Given the description of an element on the screen output the (x, y) to click on. 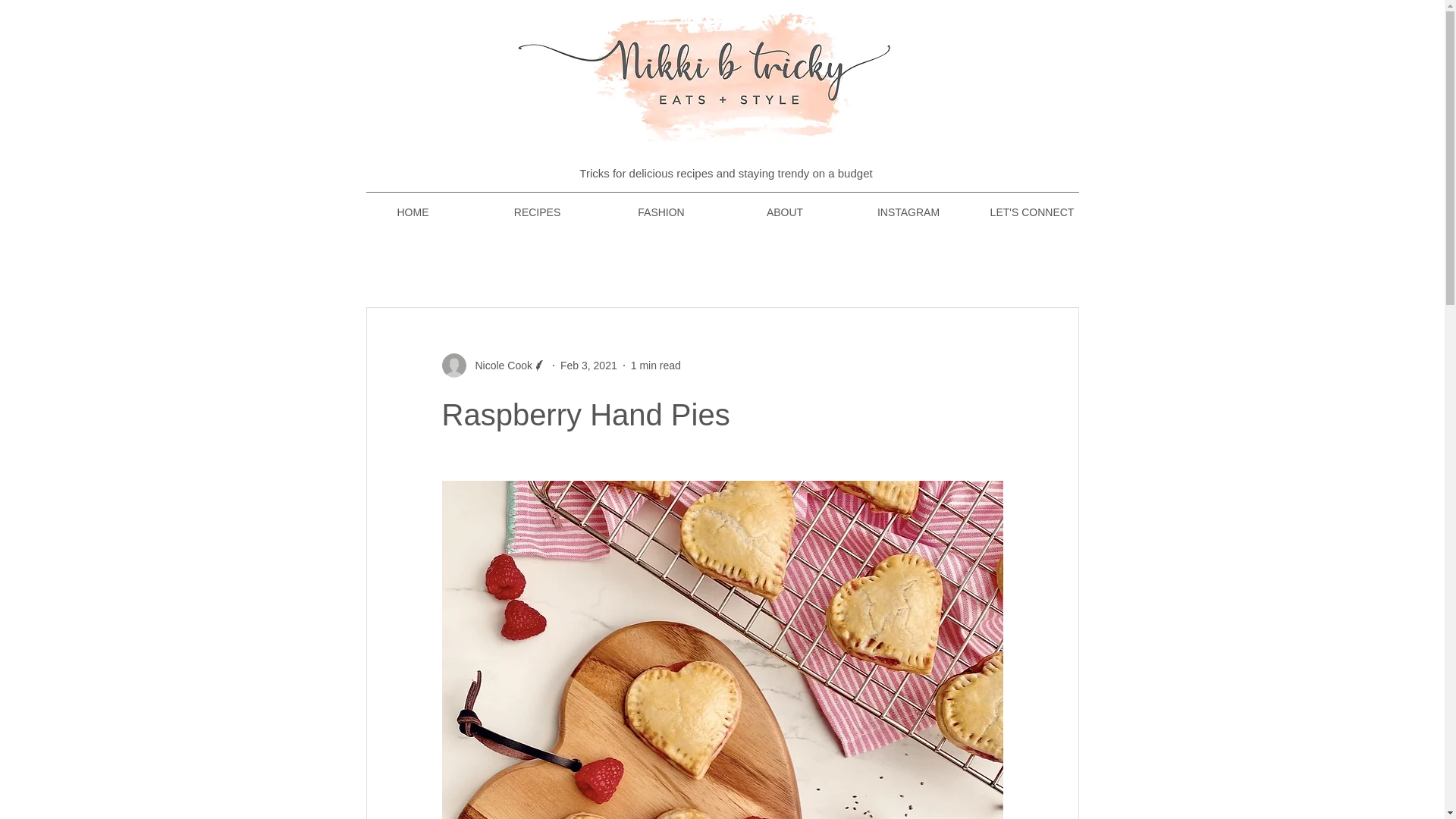
FASHION (660, 211)
Nicole Cook  (498, 365)
RECIPES (536, 211)
INSTAGRAM (907, 211)
Feb 3, 2021 (588, 365)
HOME (412, 211)
ABOUT (785, 211)
1 min read (655, 365)
LET'S CONNECT (1032, 211)
